Given the description of an element on the screen output the (x, y) to click on. 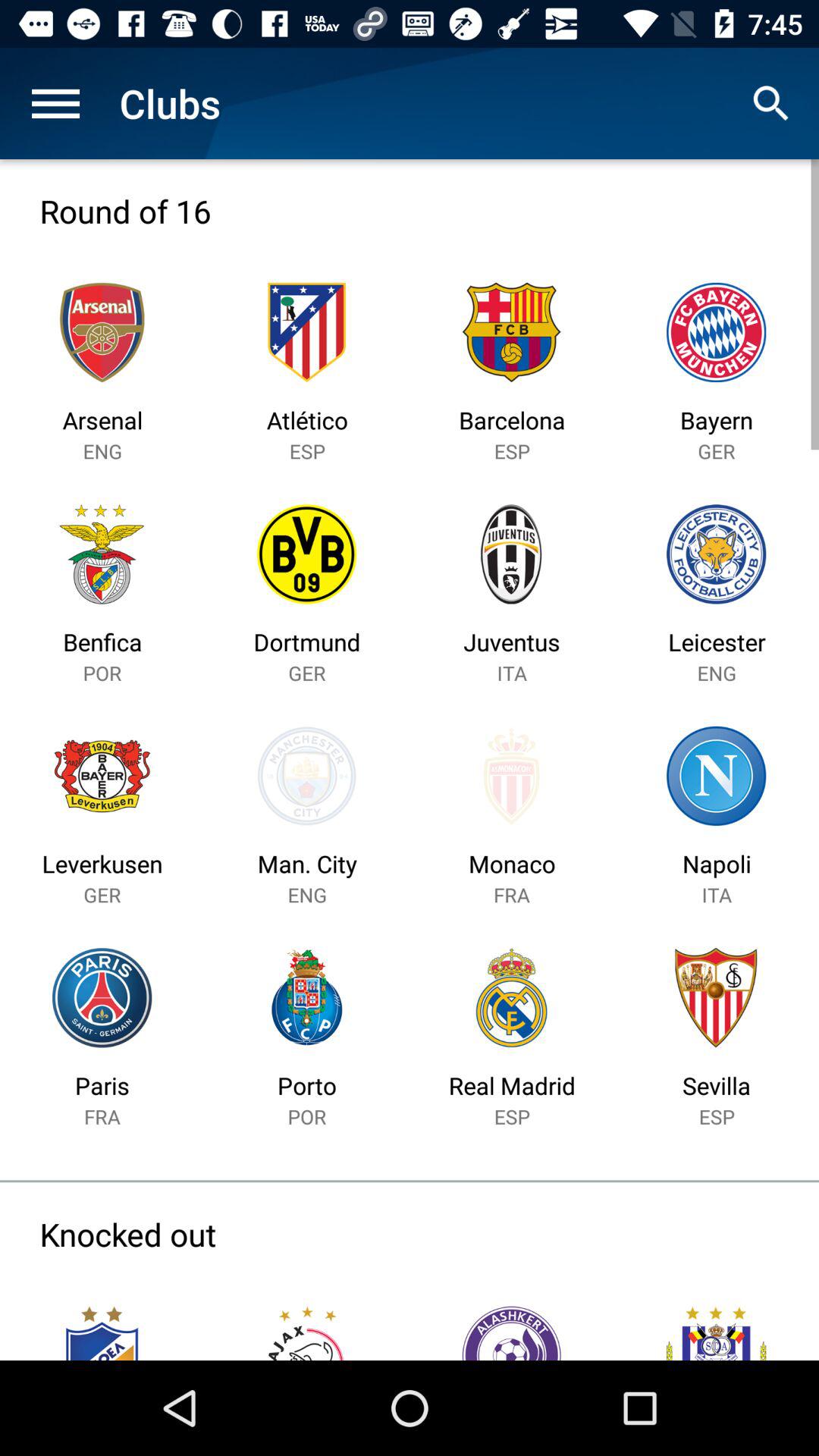
turn off icon next to clubs (771, 103)
